Given the description of an element on the screen output the (x, y) to click on. 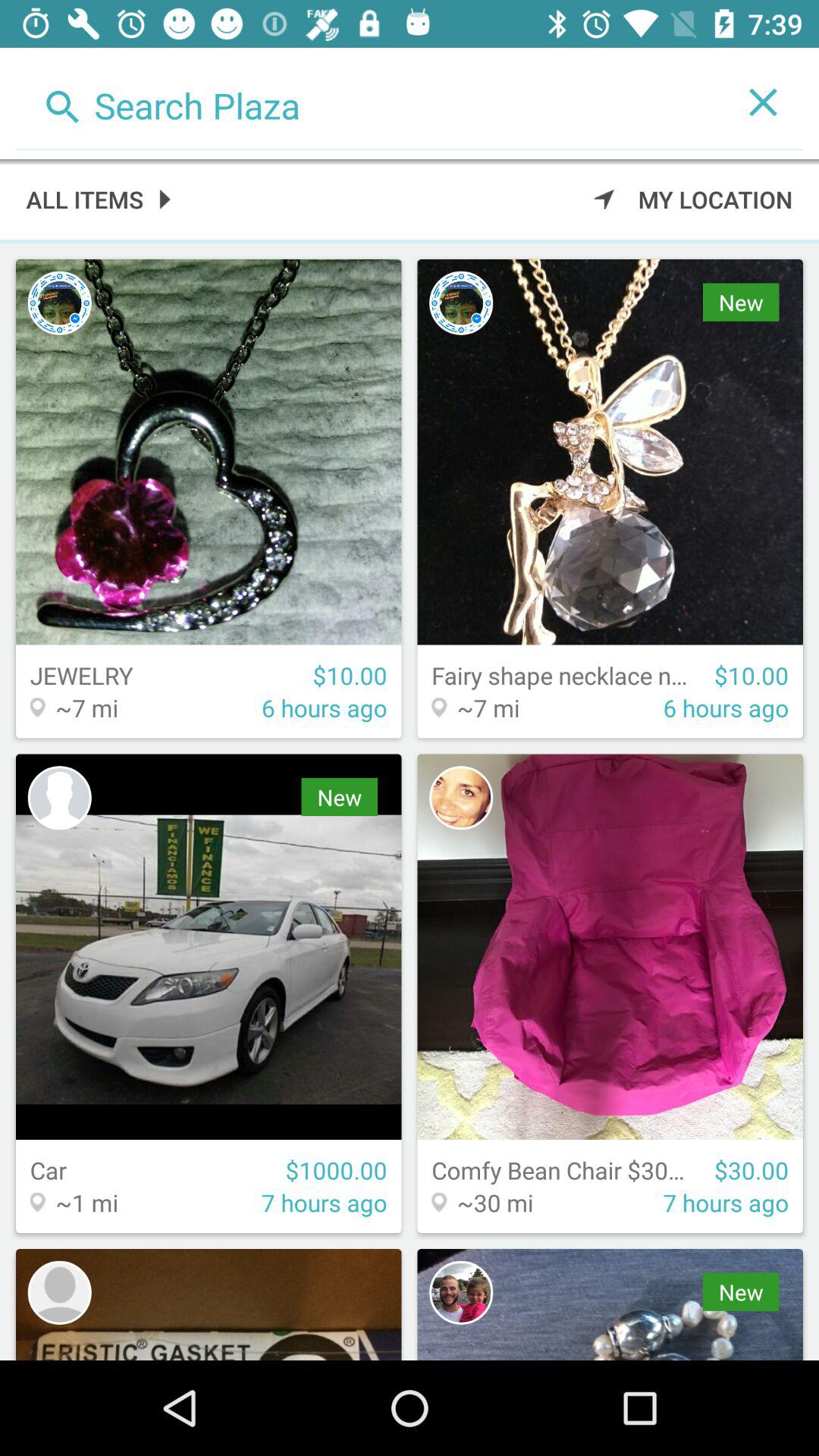
turn off the my location icon (693, 199)
